Given the description of an element on the screen output the (x, y) to click on. 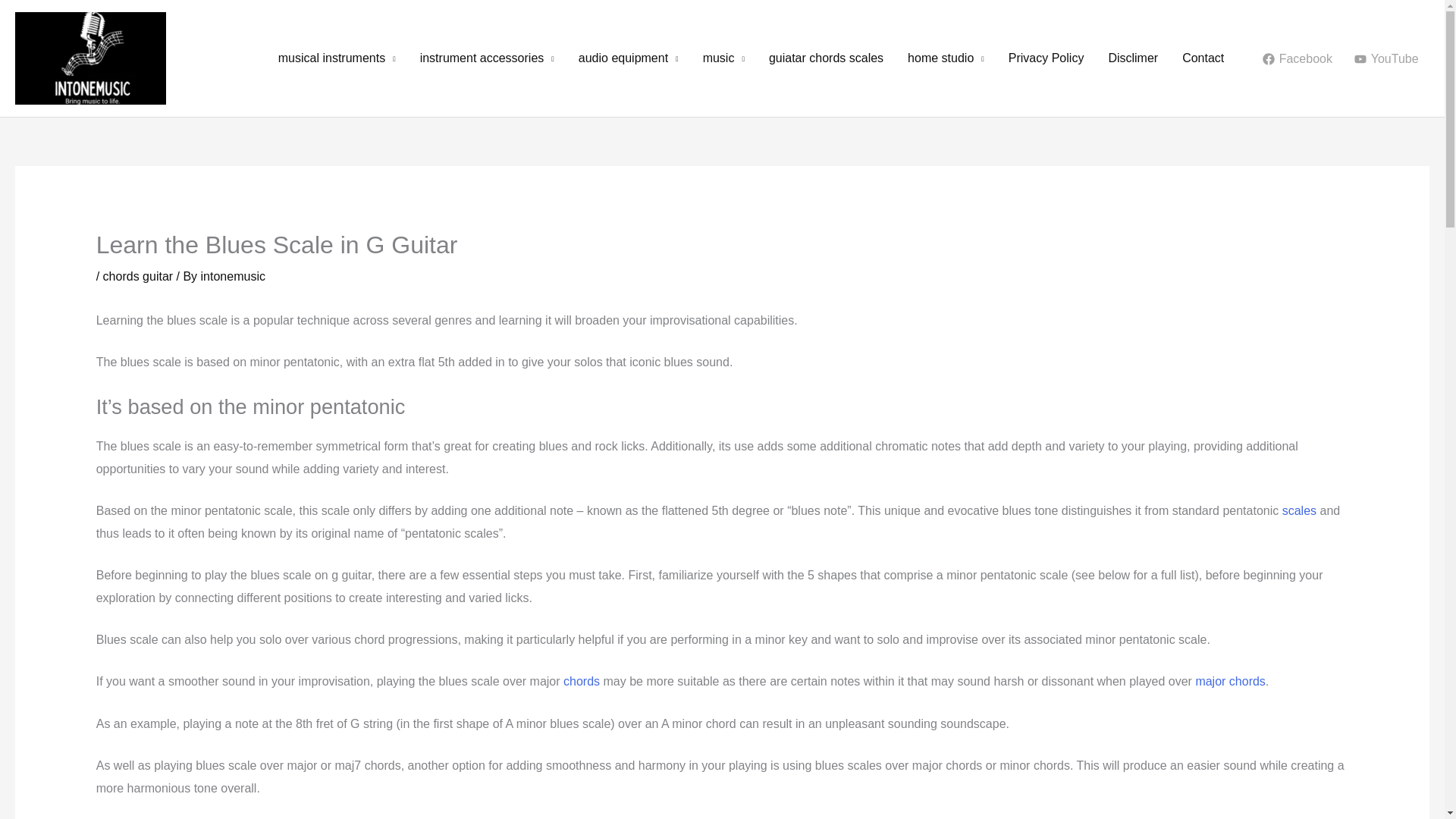
audio equipment (628, 58)
View all posts by intonemusic (232, 276)
musical instruments (336, 58)
instrument accessories (486, 58)
